Given the description of an element on the screen output the (x, y) to click on. 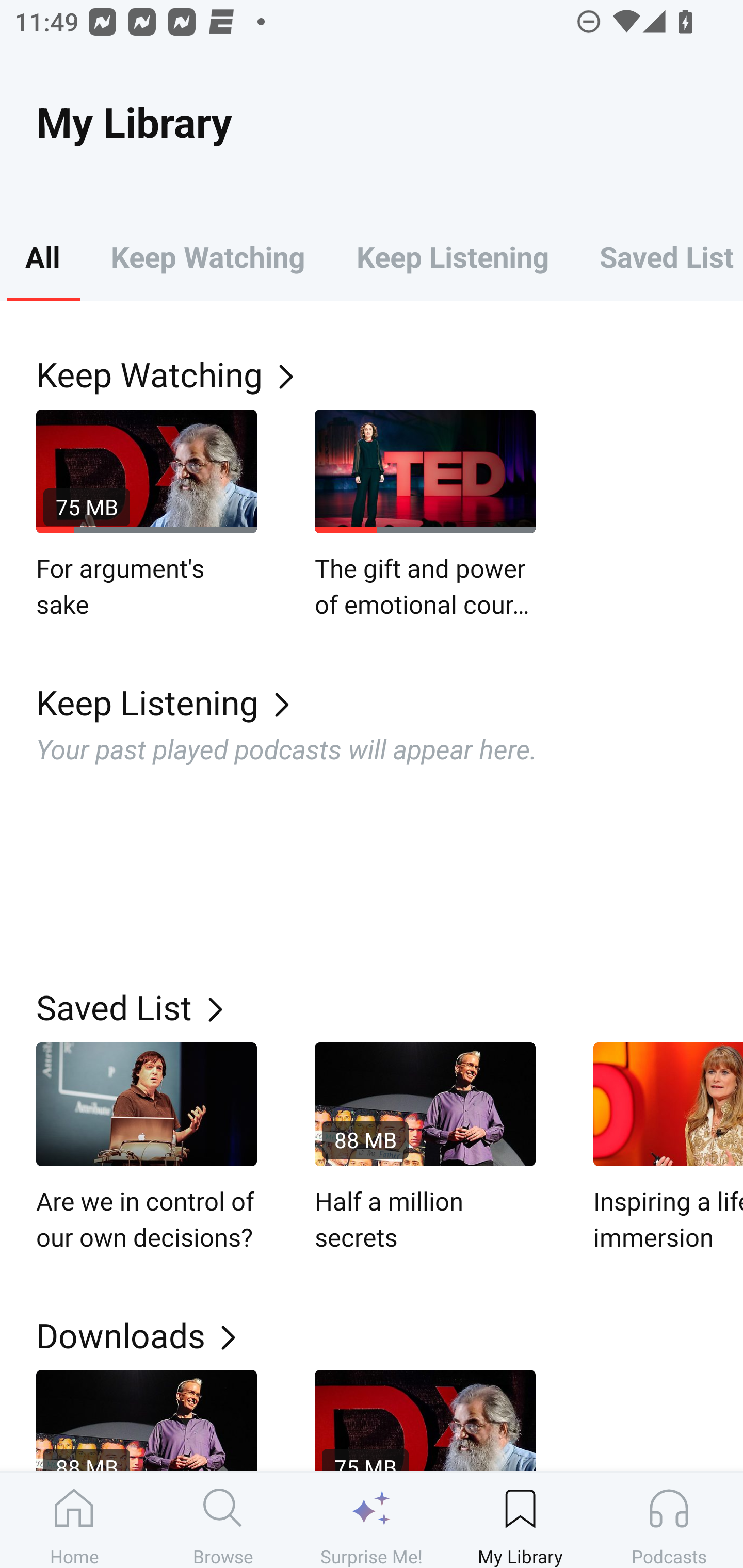
All (42, 256)
Keep Watching (207, 256)
Keep Listening (452, 256)
Saved List (658, 256)
Keep Watching (389, 373)
75 MB For argument's sake (146, 514)
The gift and power of emotional courage (425, 514)
Keep Listening (389, 702)
Saved List (389, 1007)
Are we in control of our own decisions? (146, 1148)
88 MB Half a million secrets (425, 1148)
Inspiring a life of immersion (668, 1148)
Downloads (389, 1334)
88 MB (146, 1420)
75 MB (425, 1420)
Home (74, 1520)
Browse (222, 1520)
Surprise Me! (371, 1520)
My Library (519, 1520)
Podcasts (668, 1520)
